Given the description of an element on the screen output the (x, y) to click on. 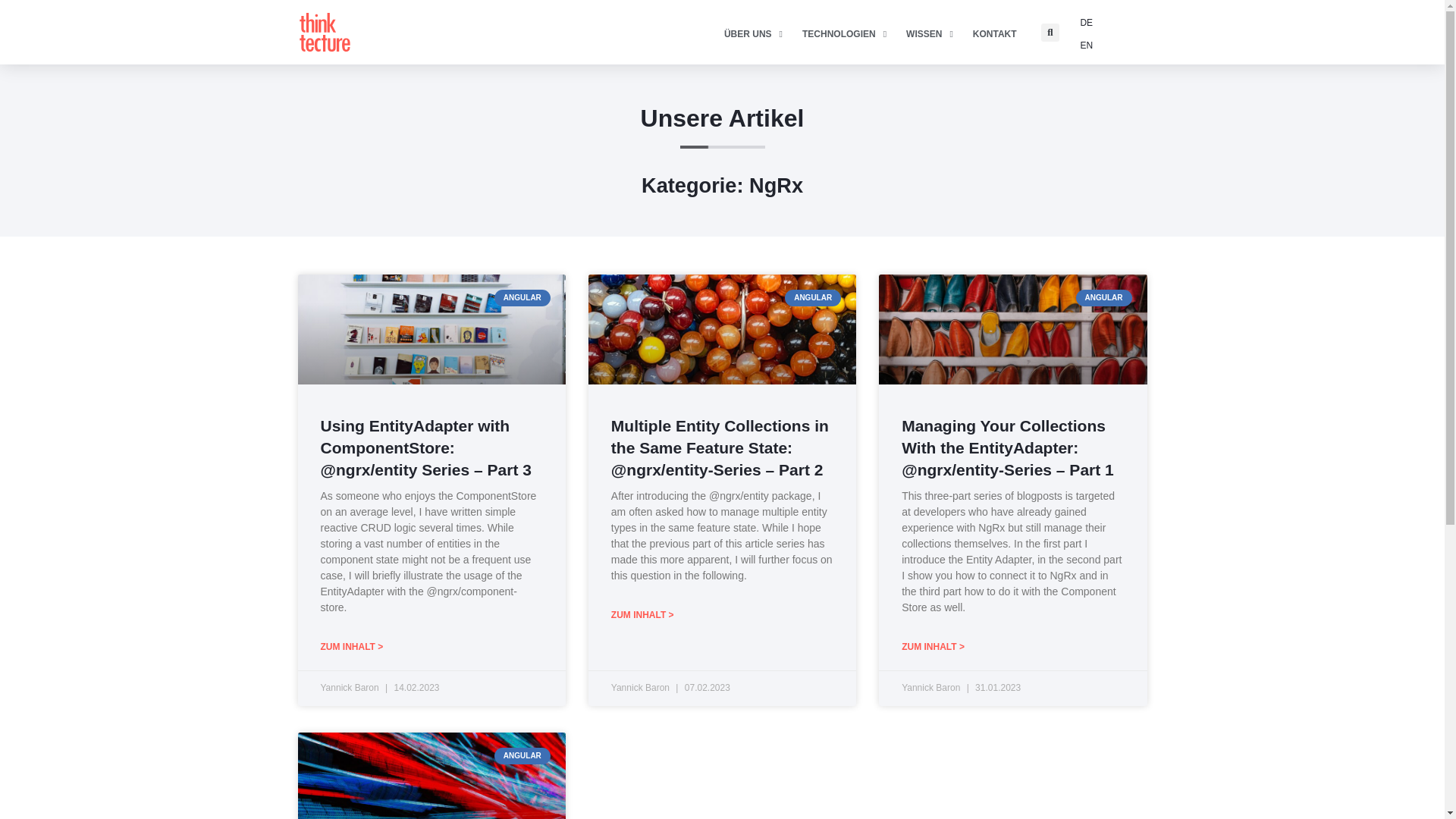
KONTAKT (994, 34)
WISSEN (929, 34)
TECHNOLOGIEN (844, 34)
